Given the description of an element on the screen output the (x, y) to click on. 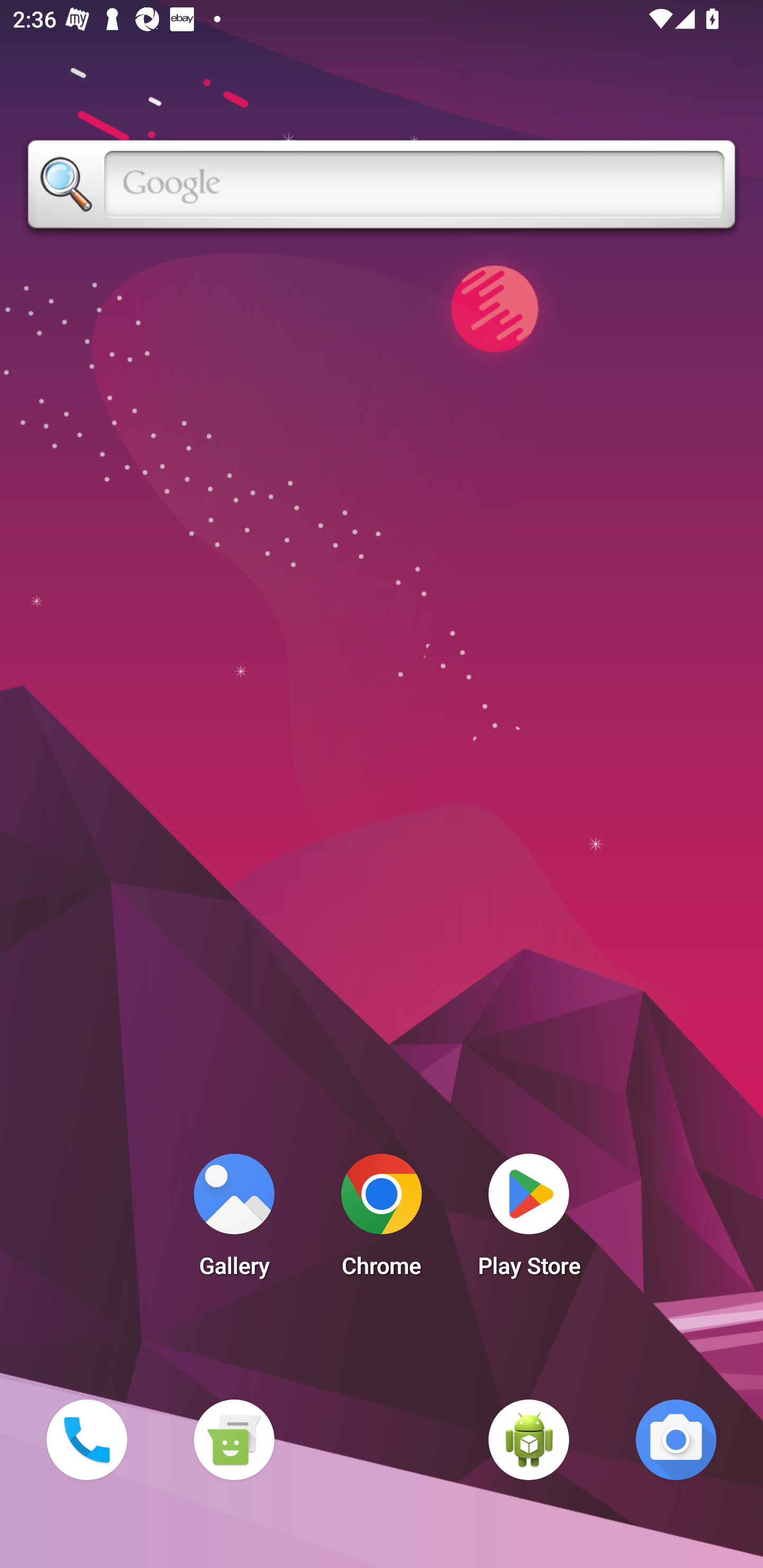
Gallery (233, 1220)
Chrome (381, 1220)
Play Store (528, 1220)
Phone (86, 1439)
Messaging (233, 1439)
WebView Browser Tester (528, 1439)
Camera (676, 1439)
